Given the description of an element on the screen output the (x, y) to click on. 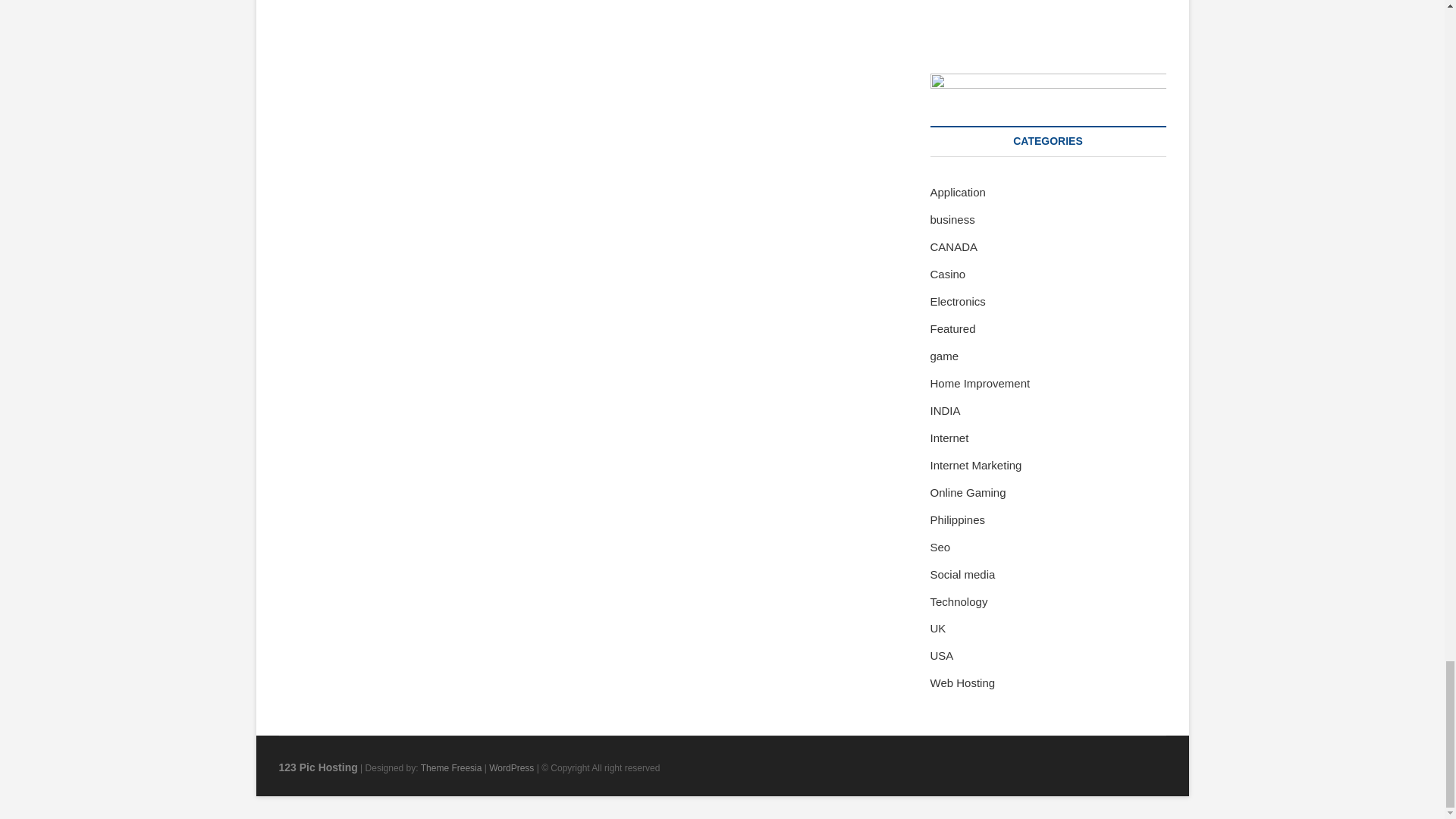
123 Pic Hosting (318, 767)
WordPress (511, 767)
Theme Freesia (450, 767)
